Given the description of an element on the screen output the (x, y) to click on. 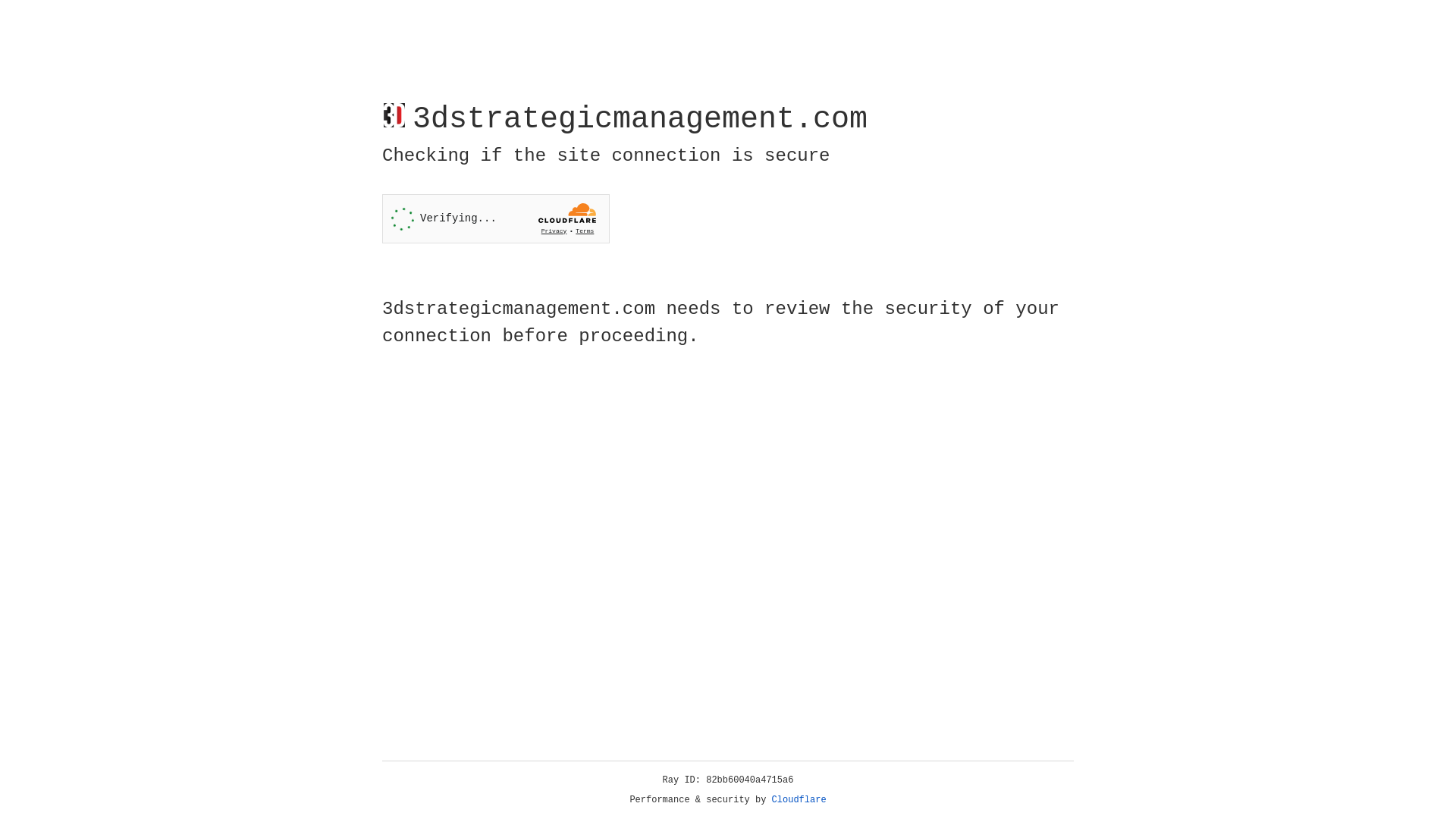
Cloudflare Element type: text (798, 799)
Widget containing a Cloudflare security challenge Element type: hover (495, 218)
